Given the description of an element on the screen output the (x, y) to click on. 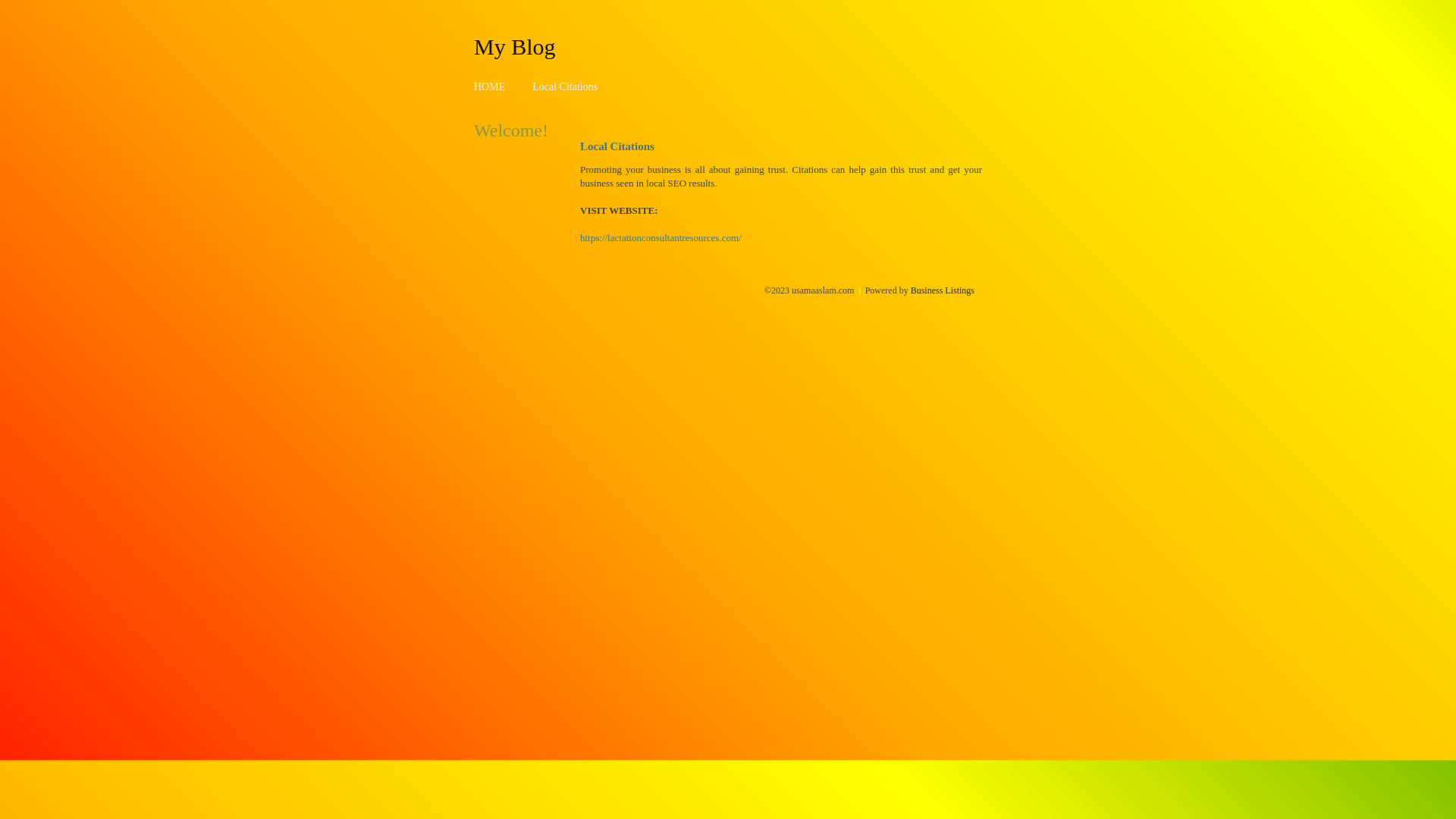
https://lactationconsultantresources.com/ Element type: text (660, 237)
HOME Element type: text (489, 86)
My Blog Element type: text (514, 46)
Business Listings Element type: text (942, 290)
Local Citations Element type: text (564, 86)
